Given the description of an element on the screen output the (x, y) to click on. 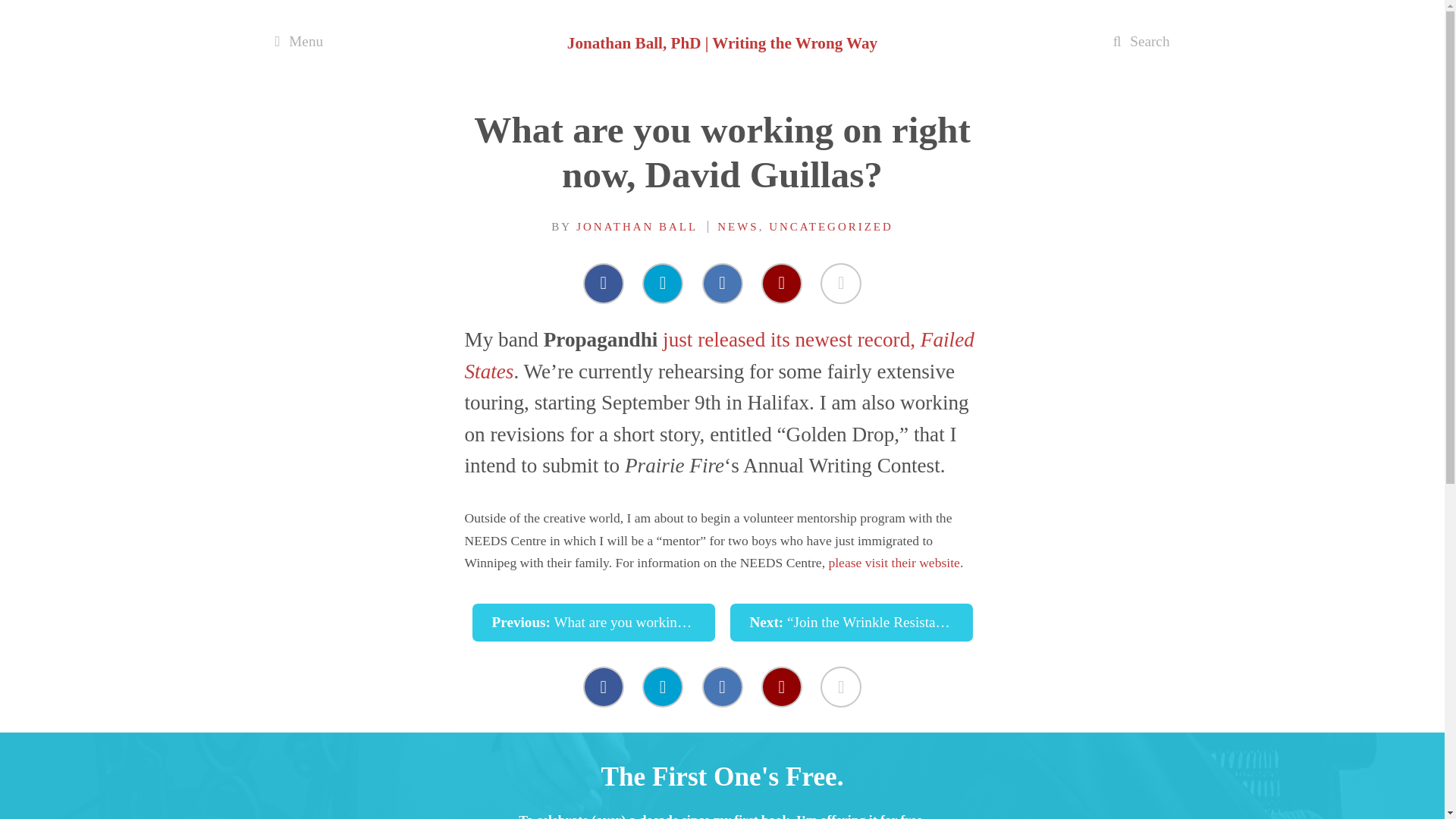
NEWS (737, 226)
Menu (299, 41)
Search (1141, 41)
Previous: What are you working on right now, derek beaulieu? (592, 622)
please visit their website (893, 562)
JONATHAN BALL (636, 226)
UNCATEGORIZED (830, 226)
just released its newest record, Failed States (719, 355)
